Given the description of an element on the screen output the (x, y) to click on. 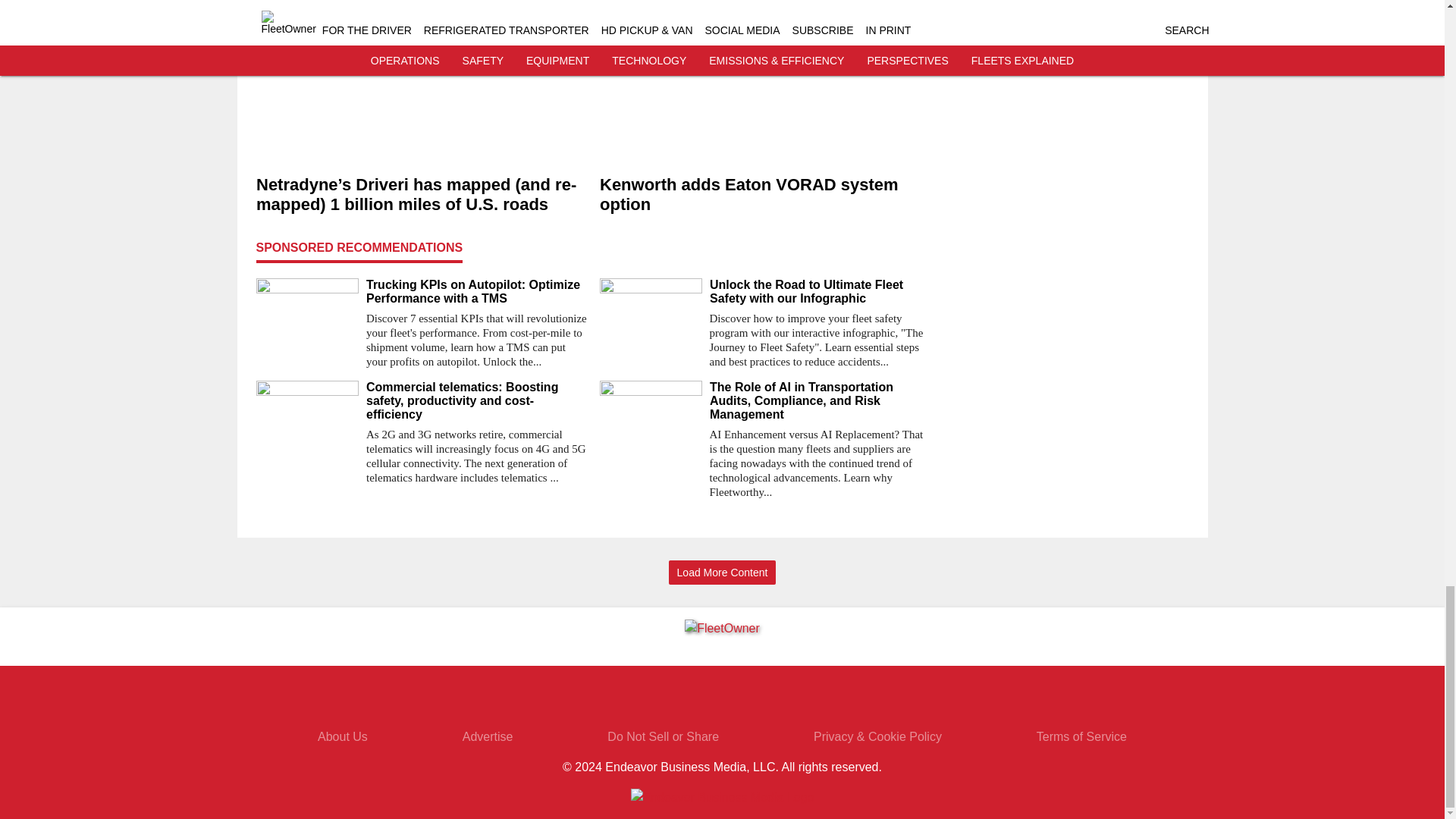
Kenworth adds Eaton VORAD system option (764, 195)
Trucking KPIs on Autopilot: Optimize Performance with a TMS (476, 291)
